Given the description of an element on the screen output the (x, y) to click on. 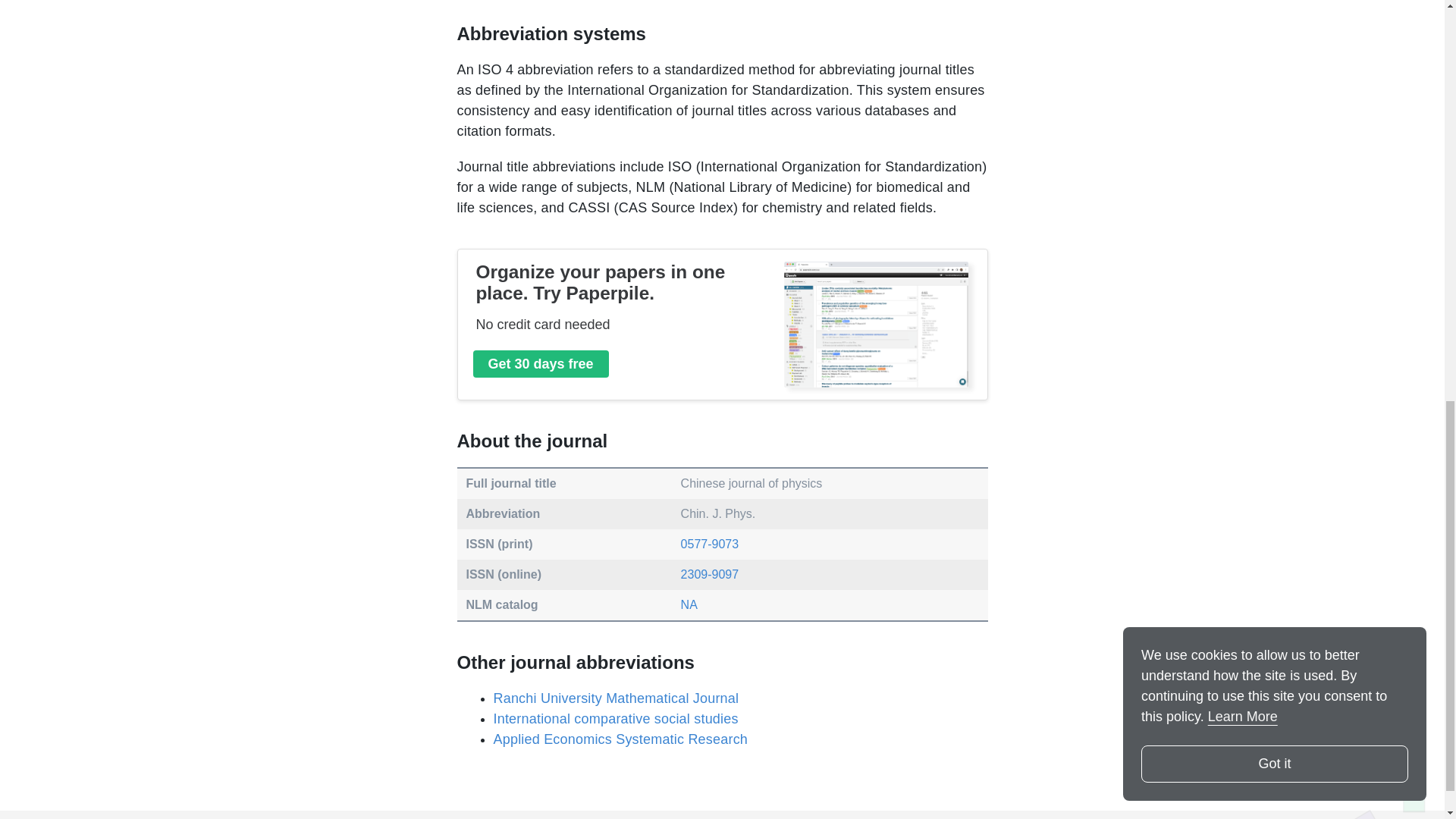
Get 30 days free (540, 363)
NA (689, 604)
2309-9097 (710, 574)
0577-9073 (710, 543)
Applied Economics Systematic Research (620, 739)
International comparative social studies (615, 718)
Ranchi University Mathematical Journal (615, 698)
